Given the description of an element on the screen output the (x, y) to click on. 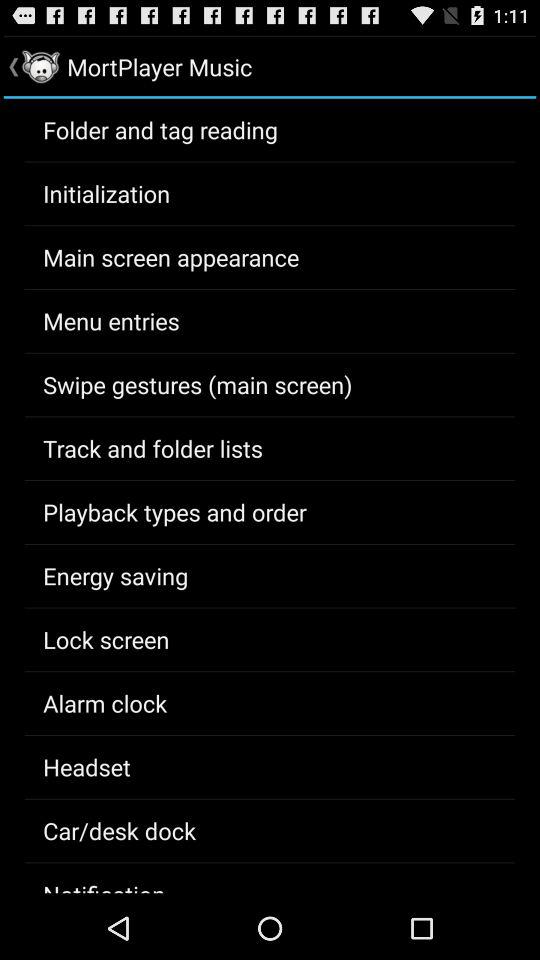
press app below the headset item (119, 830)
